Given the description of an element on the screen output the (x, y) to click on. 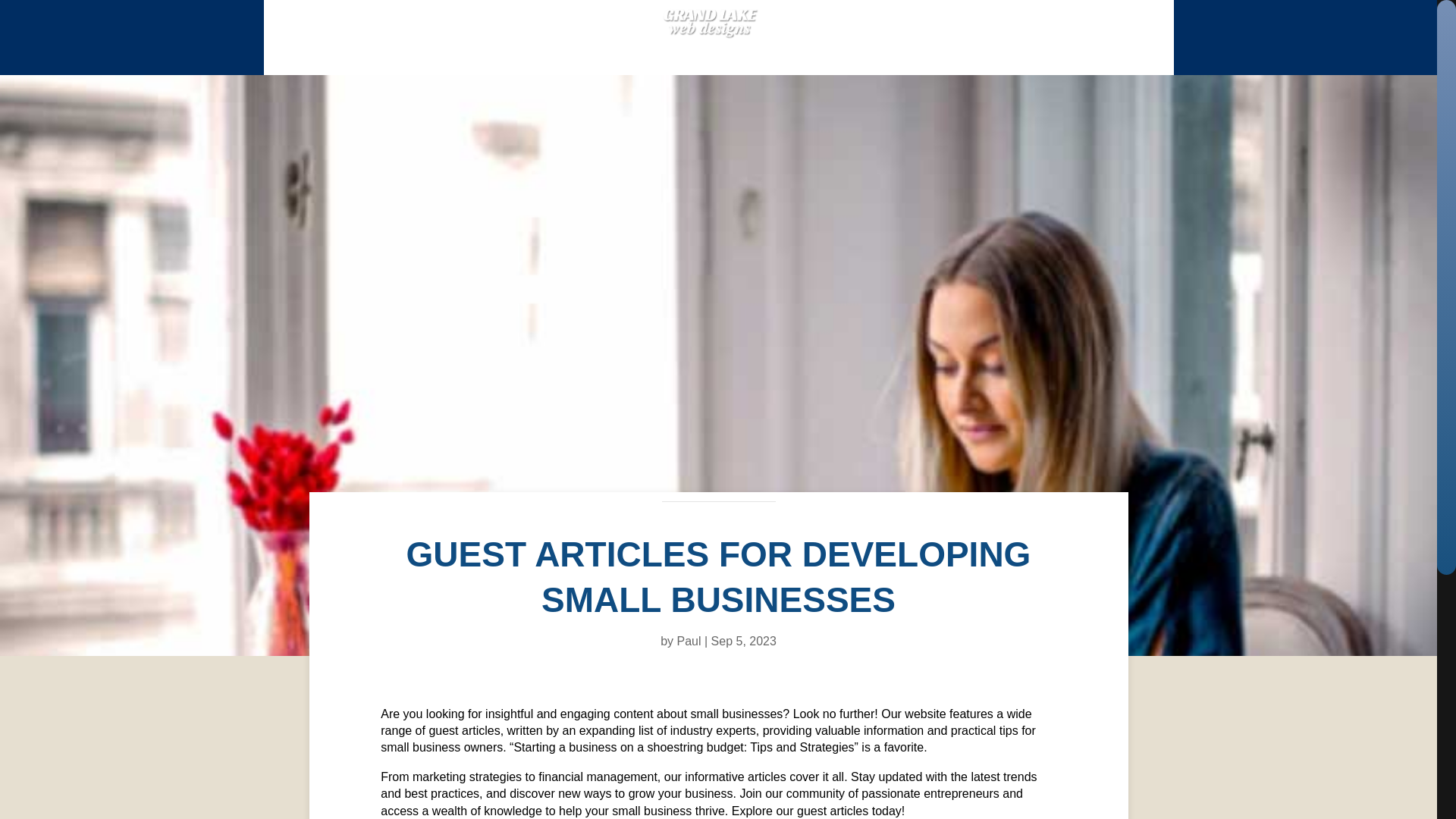
ABOUT (778, 52)
GUEST ARTICLES (882, 52)
Posts by Paul (688, 640)
GRAPHICS (600, 52)
CONTACT (1089, 52)
FREE QUOTE (997, 52)
CLIENTS (694, 52)
WEBSITE DEVELOPMENT (458, 52)
HOME (335, 52)
